Given the description of an element on the screen output the (x, y) to click on. 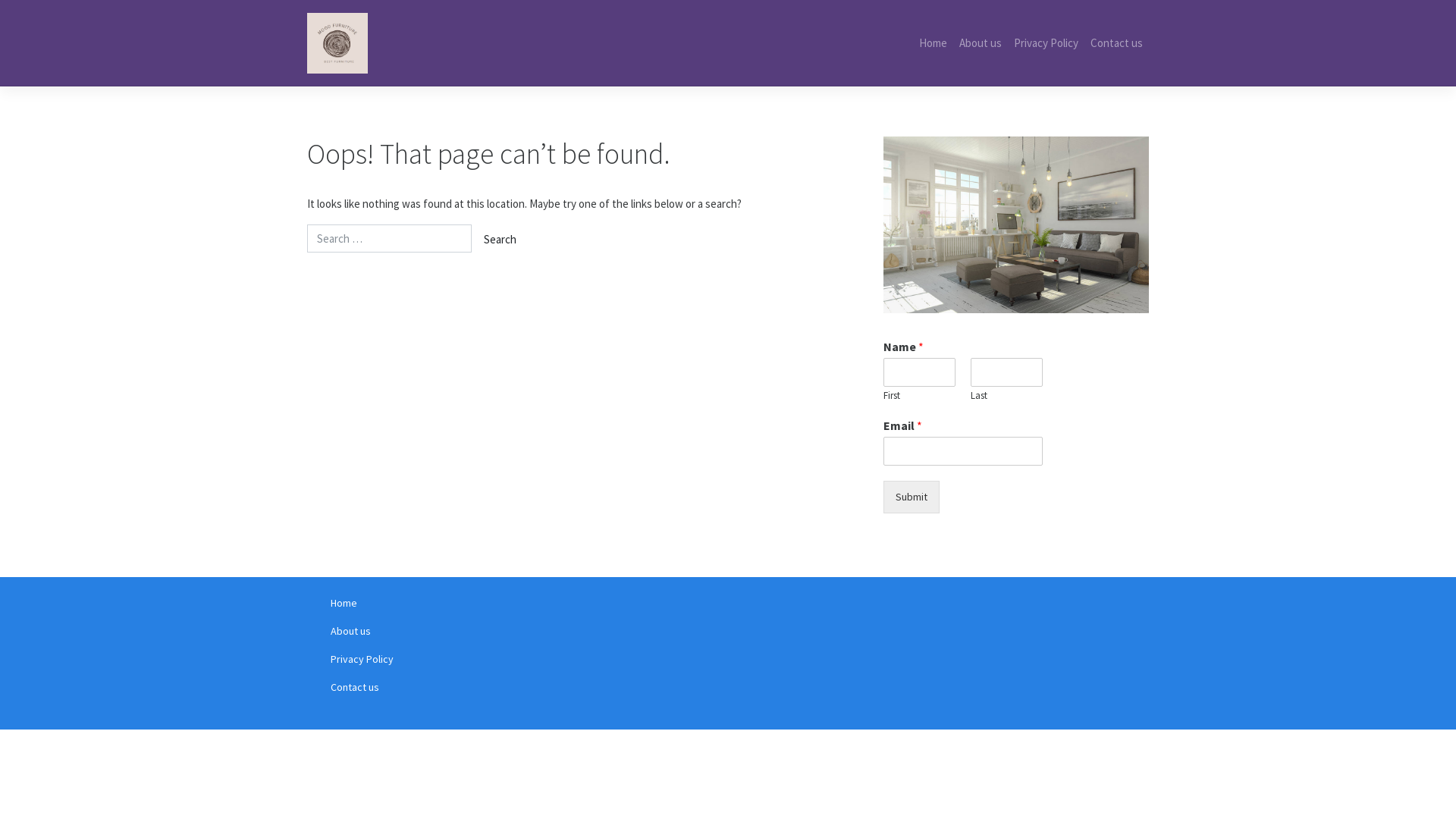
Privacy Policy Element type: text (447, 659)
Privacy Policy Element type: text (1045, 43)
Home Element type: text (447, 603)
Search for: Element type: hover (389, 238)
Home Element type: text (933, 43)
Contact us Element type: text (447, 687)
Search Element type: text (499, 239)
Contact us Element type: text (1116, 43)
Submit Element type: text (911, 496)
About us Element type: text (980, 43)
About us Element type: text (447, 631)
